Given the description of an element on the screen output the (x, y) to click on. 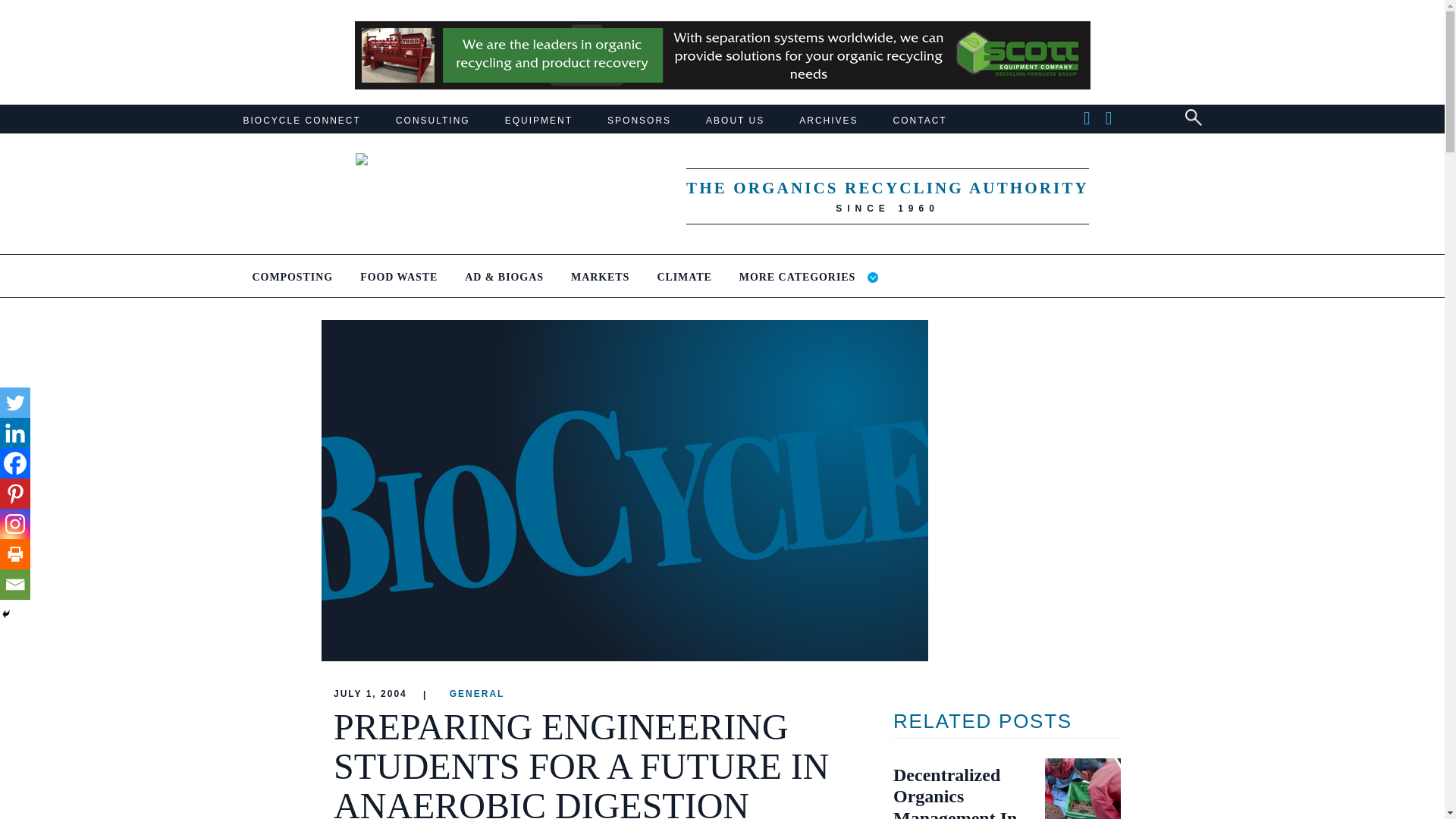
CONTACT (920, 120)
CONSULTING (433, 120)
ARCHIVES (828, 120)
Linkedin (15, 432)
BIOCYCLE CONNECT (301, 120)
SPONSORS (639, 120)
Twitter (15, 402)
COMPOSTING (293, 283)
Facebook (15, 462)
EQUIPMENT (538, 120)
ABOUT US (735, 120)
